Given the description of an element on the screen output the (x, y) to click on. 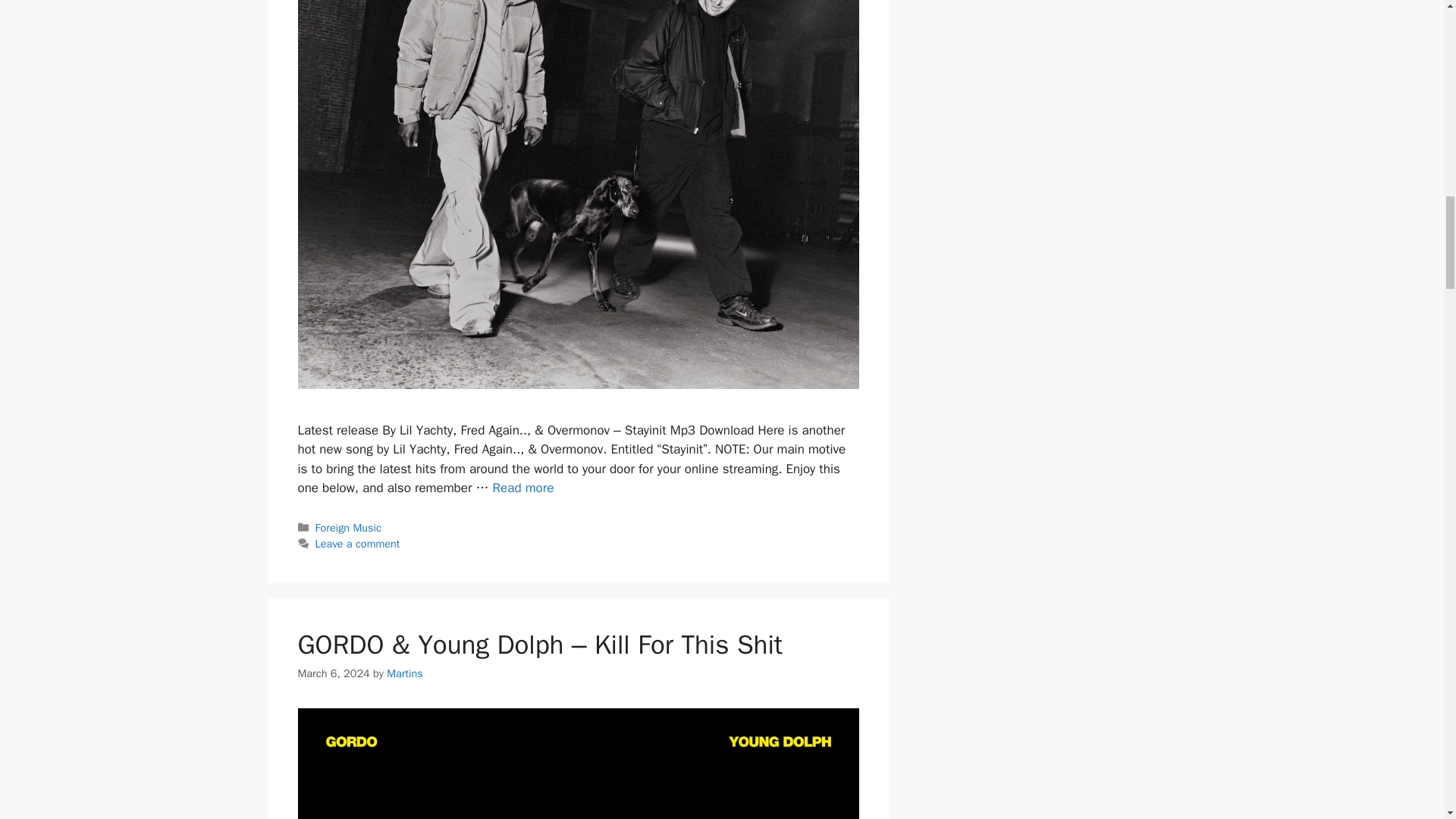
Foreign Music (348, 527)
View all posts by Martins (405, 673)
Read more (523, 487)
Martins (405, 673)
Leave a comment (357, 543)
